Given the description of an element on the screen output the (x, y) to click on. 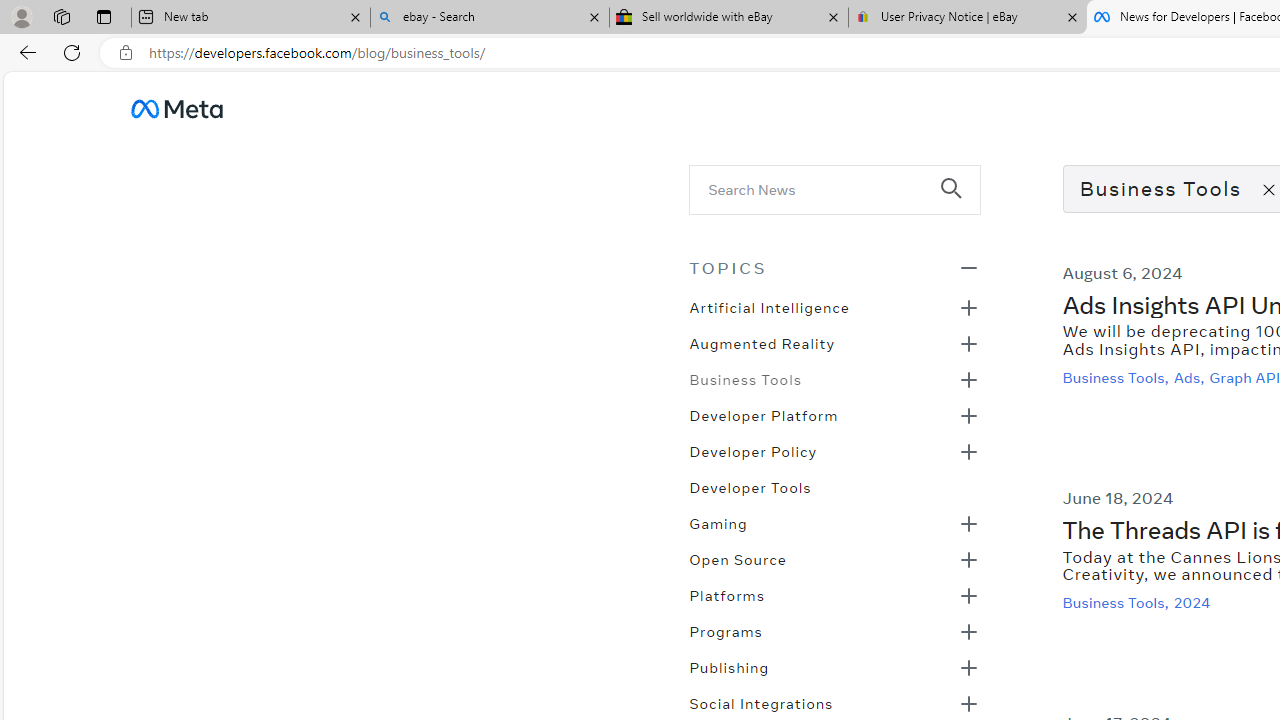
Sell worldwide with eBay (729, 17)
Artificial Intelligence (768, 305)
Platforms (726, 593)
Programs (725, 629)
Class: _98ex _98ez (834, 673)
Class: _98ce (959, 201)
Developer Tools (749, 485)
Ads, (1190, 377)
Developer Policy (752, 449)
Class: _9890 _98ey (834, 267)
AutomationID: u_0_4z_2S (176, 107)
